Given the description of an element on the screen output the (x, y) to click on. 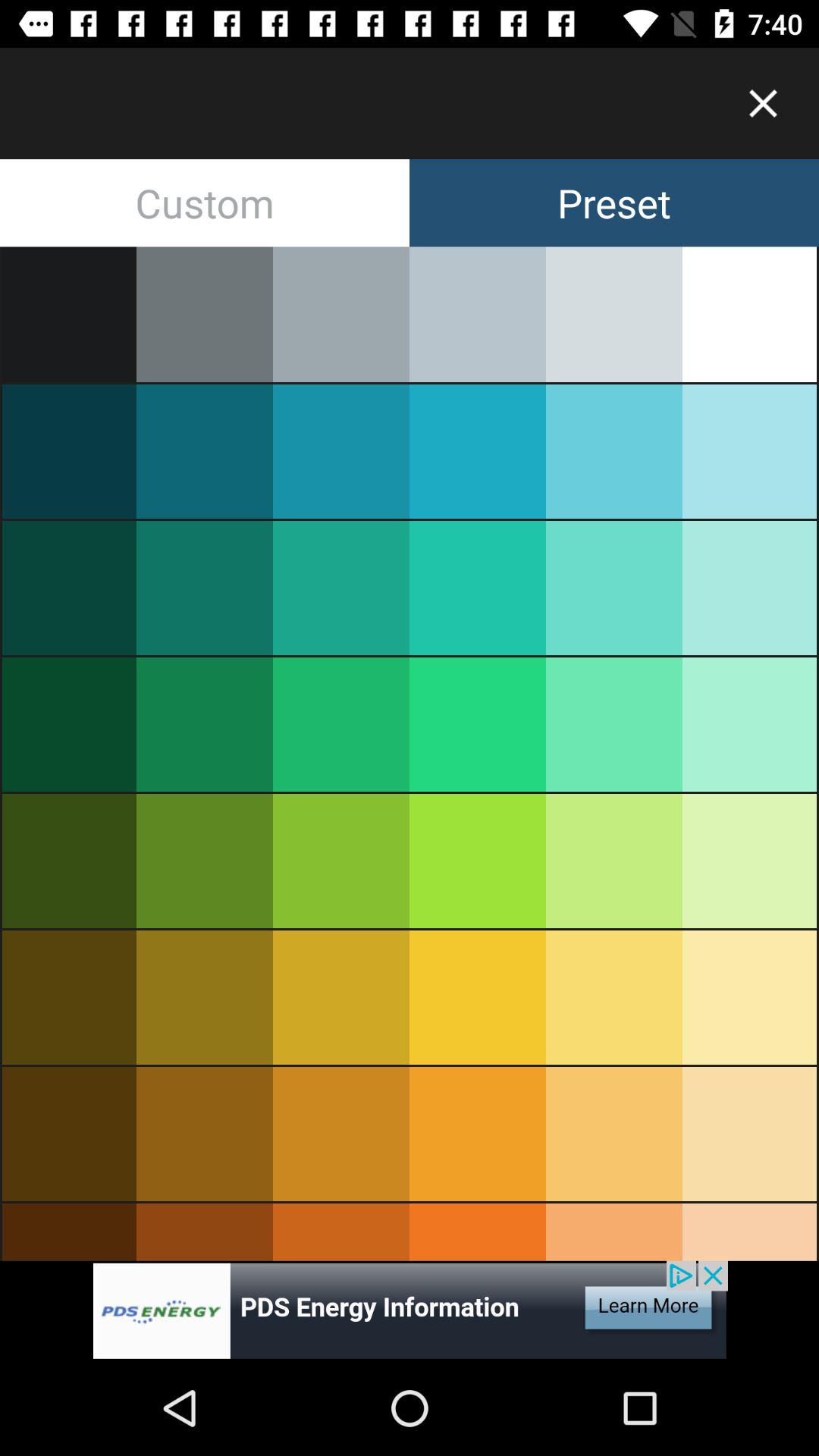
advertisement (409, 1310)
